Given the description of an element on the screen output the (x, y) to click on. 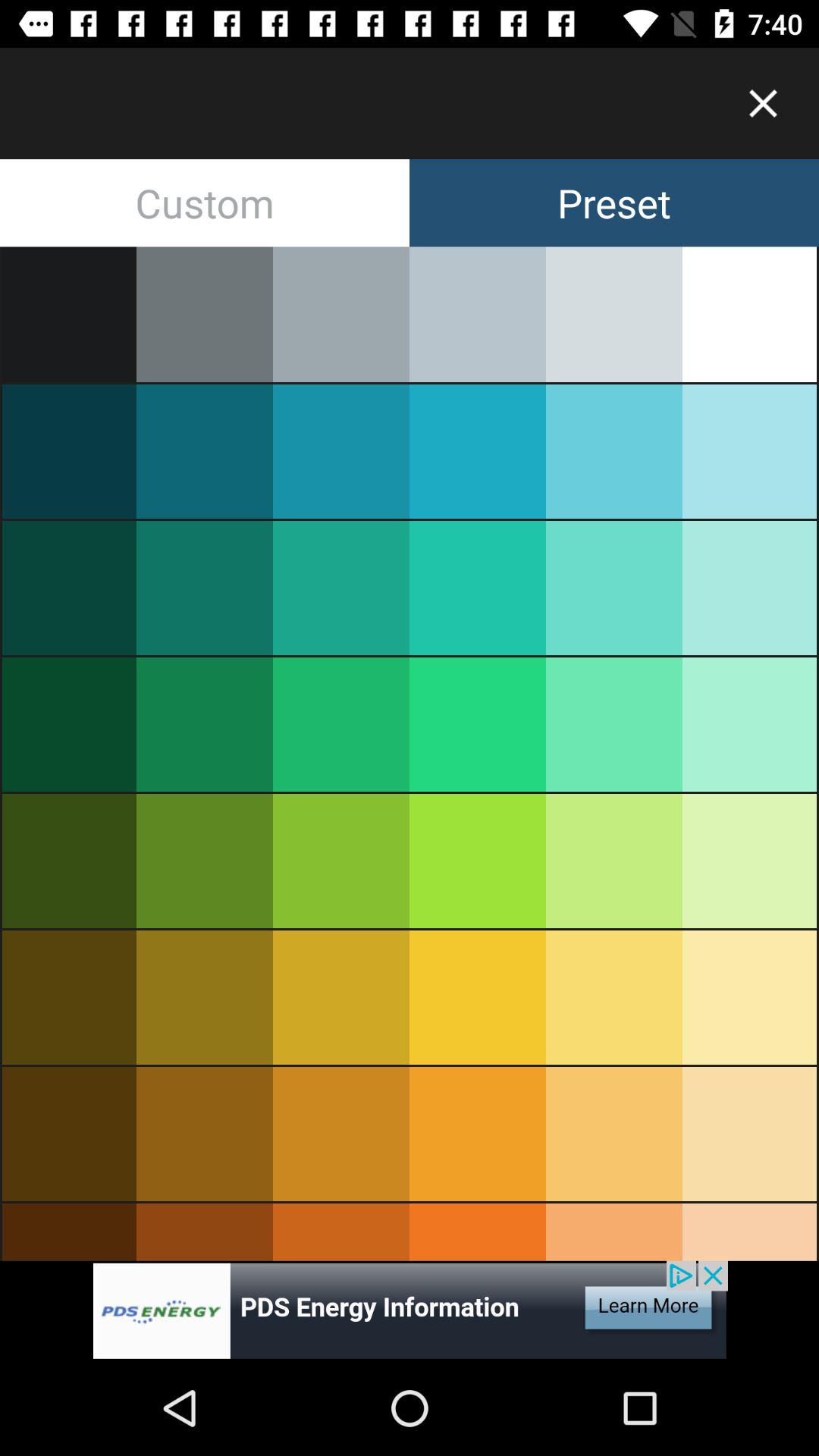
advertisement (409, 1310)
